Given the description of an element on the screen output the (x, y) to click on. 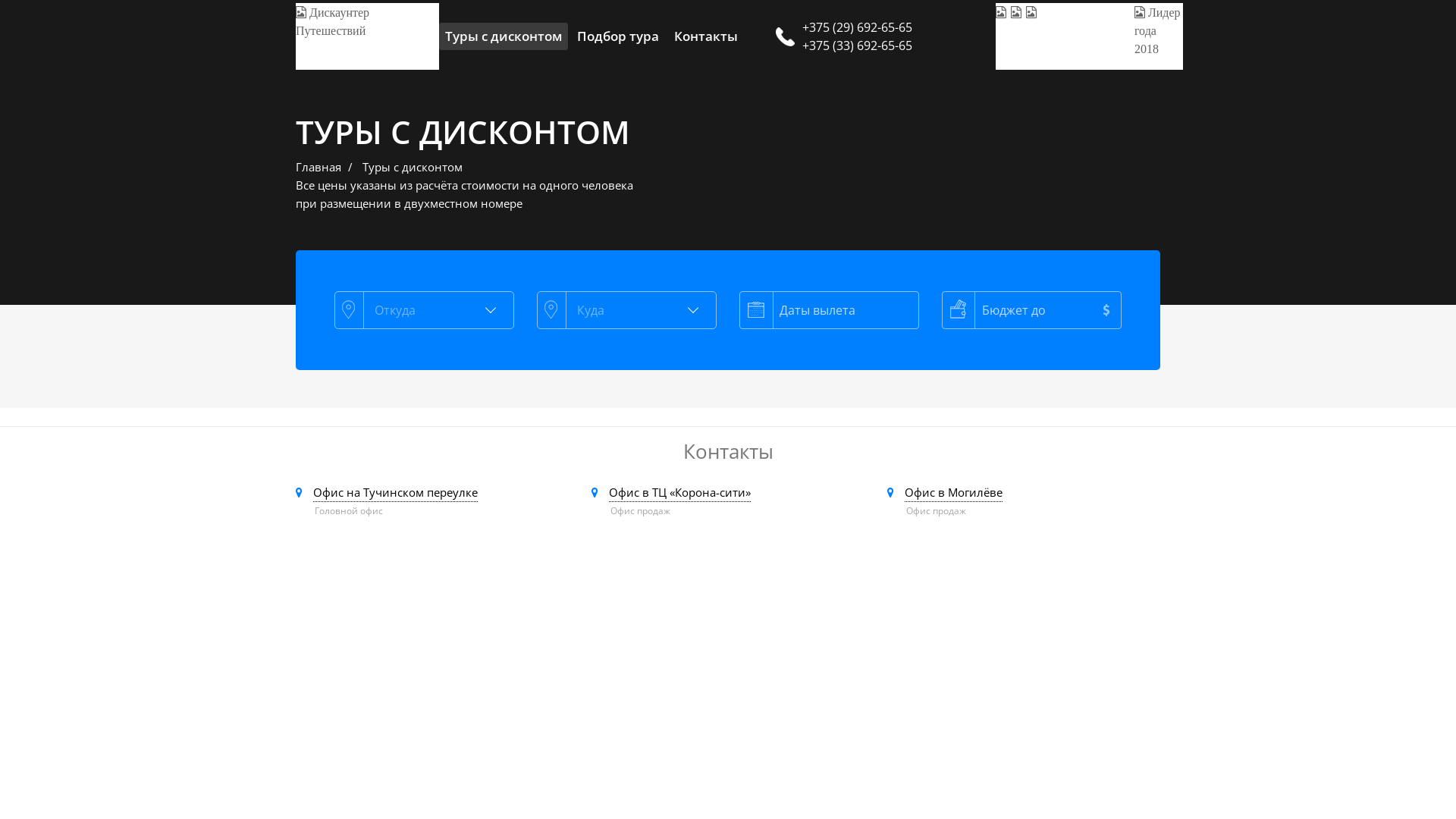
+375 (29) 692-65-65 Element type: text (893, 27)
+375 (33) 692-65-65 Element type: text (893, 45)
